Given the description of an element on the screen output the (x, y) to click on. 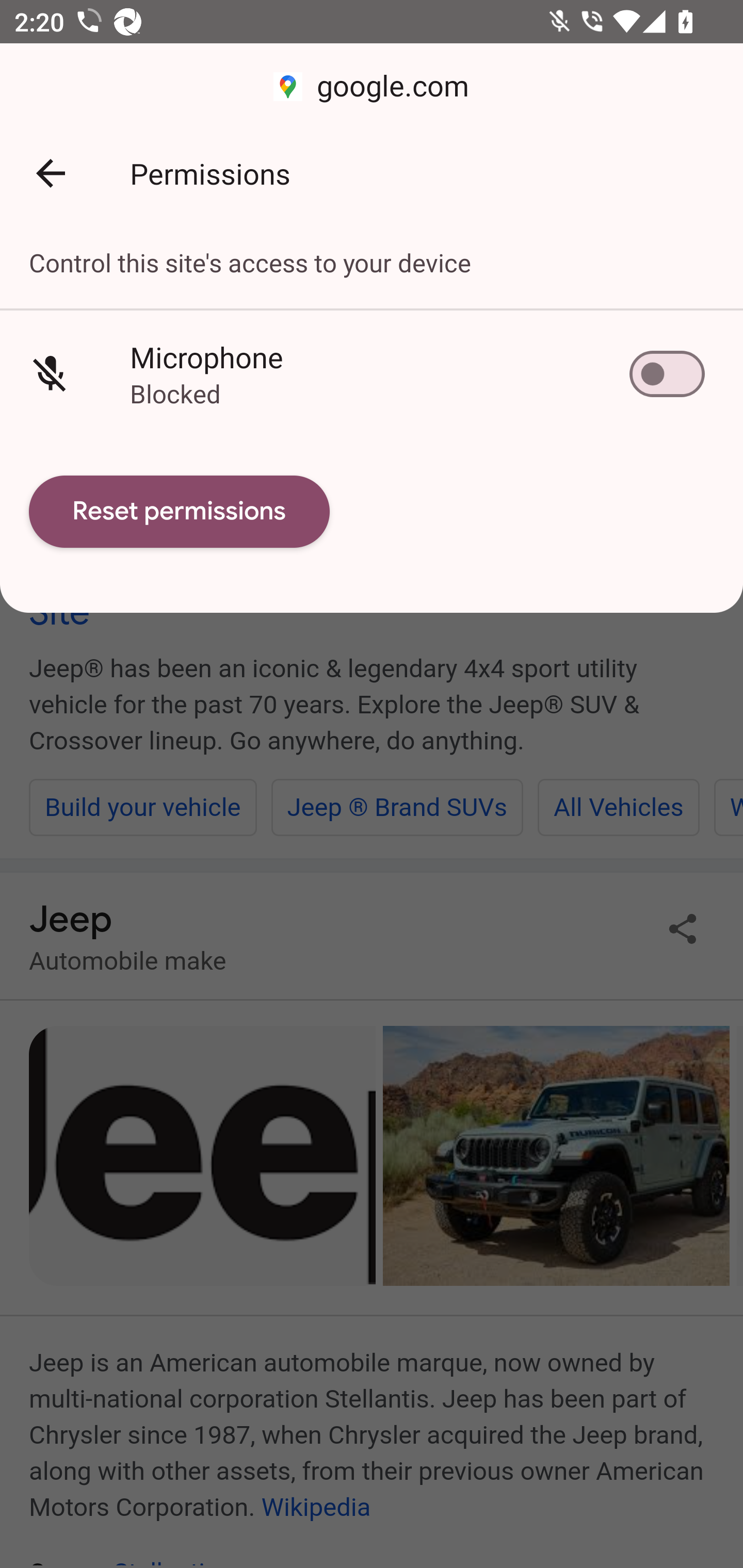
google.com (371, 86)
Back (50, 173)
Microphone Blocked (371, 373)
Reset permissions (178, 511)
